Given the description of an element on the screen output the (x, y) to click on. 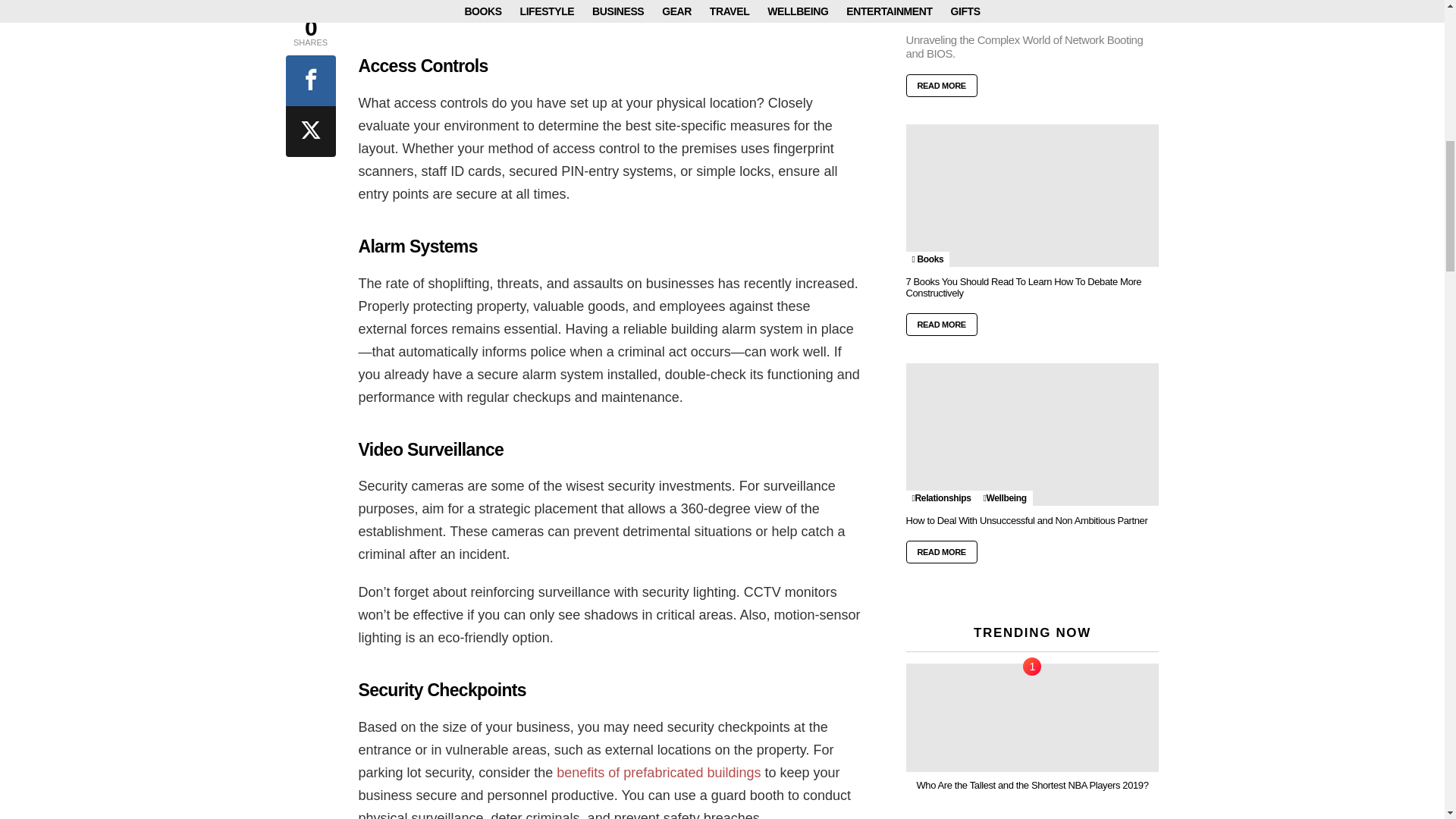
benefits of prefabricated buildings (658, 772)
